Given the description of an element on the screen output the (x, y) to click on. 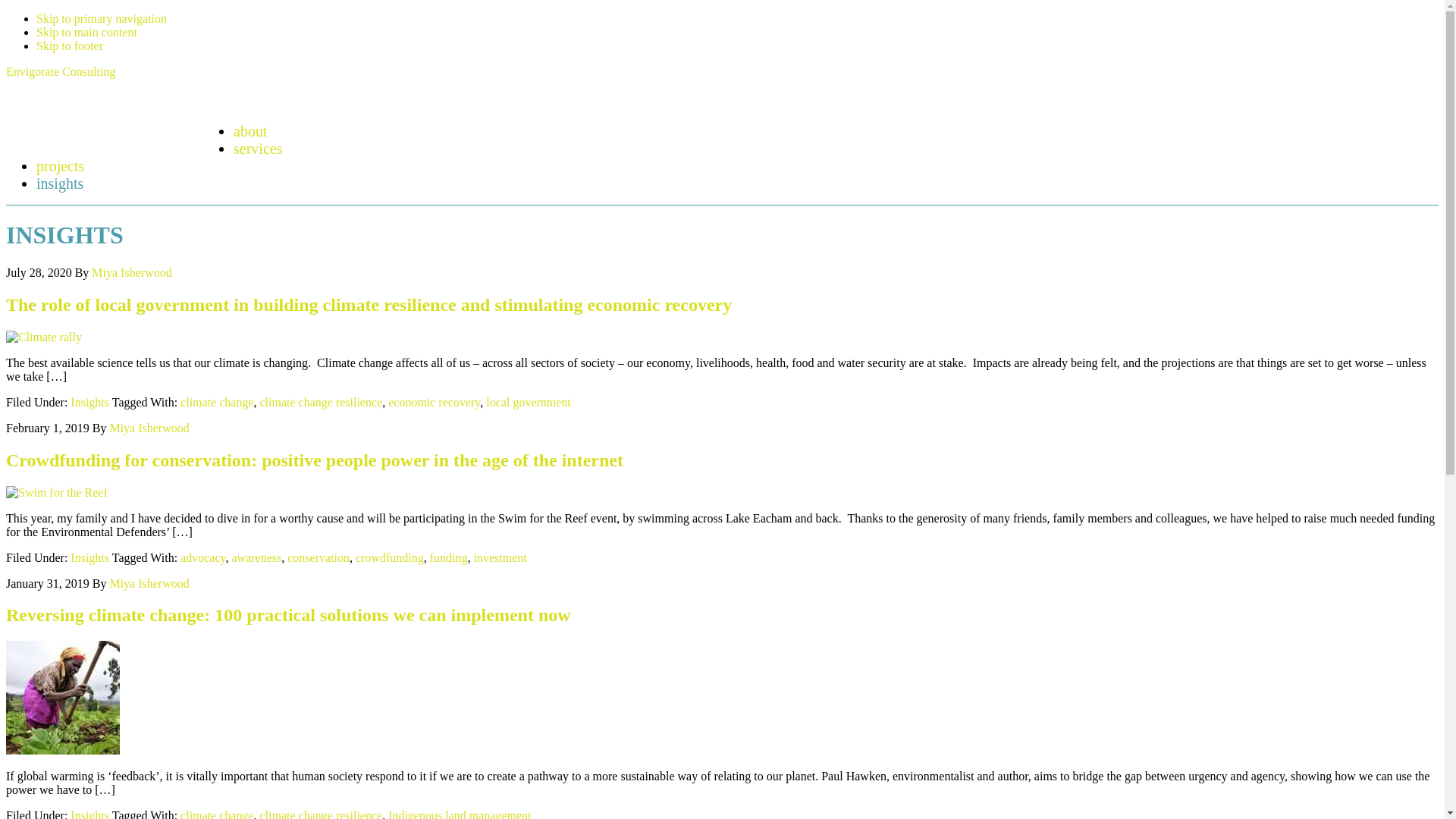
Miya Isherwood Element type: text (148, 427)
investment Element type: text (500, 556)
crowdfunding Element type: text (389, 556)
Insights Element type: text (89, 556)
services Element type: text (257, 148)
funding Element type: text (448, 556)
climate change Element type: text (216, 401)
Miya Isherwood Element type: text (148, 582)
Insights Element type: text (89, 401)
awareness Element type: text (256, 556)
local government Element type: text (528, 401)
insights Element type: text (59, 183)
about Element type: text (249, 130)
conservation Element type: text (318, 556)
advocacy Element type: text (202, 556)
climate change resilience Element type: text (320, 401)
economic recovery Element type: text (434, 401)
Skip to main content Element type: text (86, 31)
Envigorate Consulting Element type: text (119, 109)
Skip to footer Element type: text (69, 45)
Miya Isherwood Element type: text (131, 272)
Skip to primary navigation Element type: text (101, 18)
projects Element type: text (60, 165)
